Given the description of an element on the screen output the (x, y) to click on. 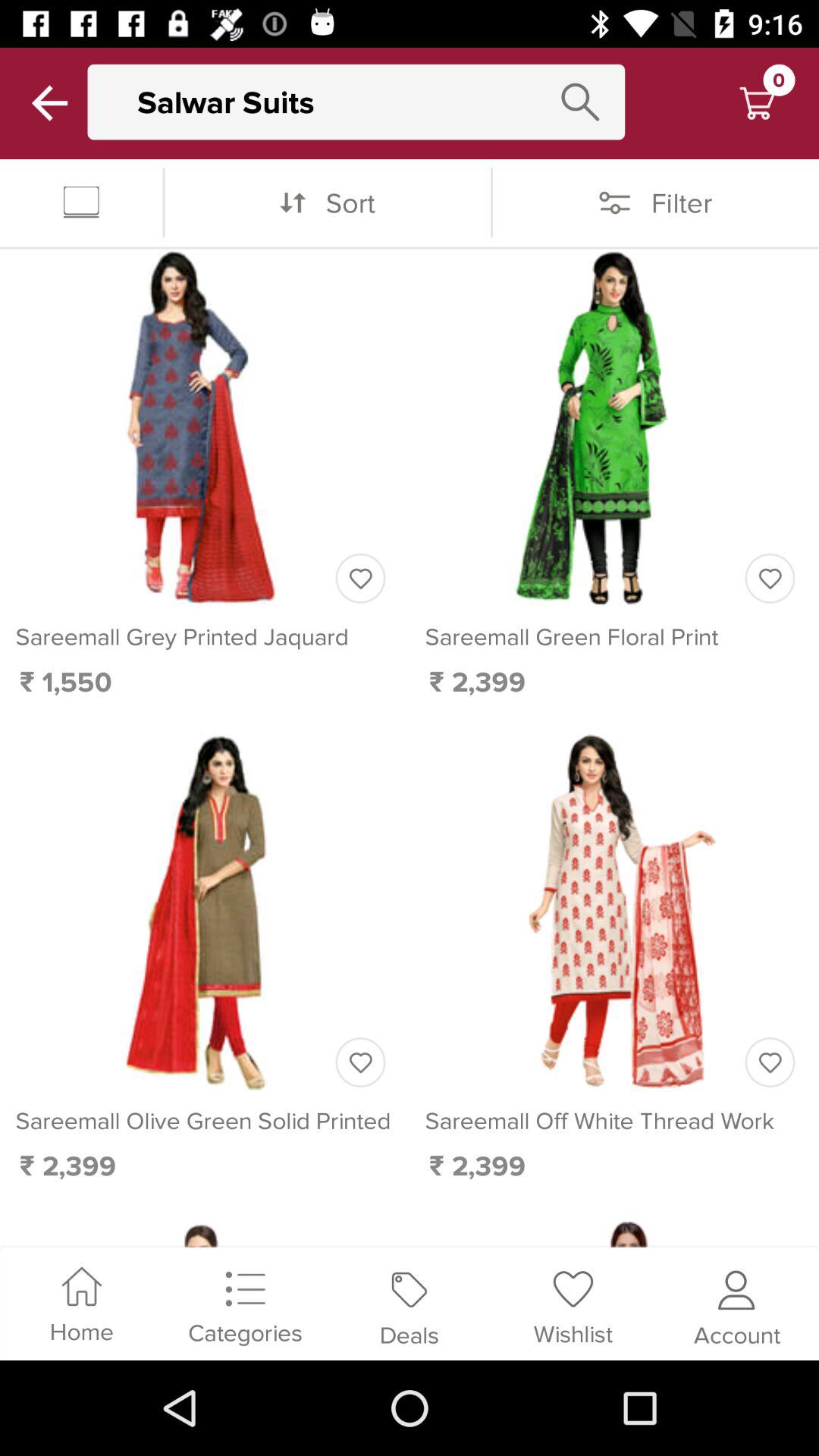
favorite option (770, 578)
